Given the description of an element on the screen output the (x, y) to click on. 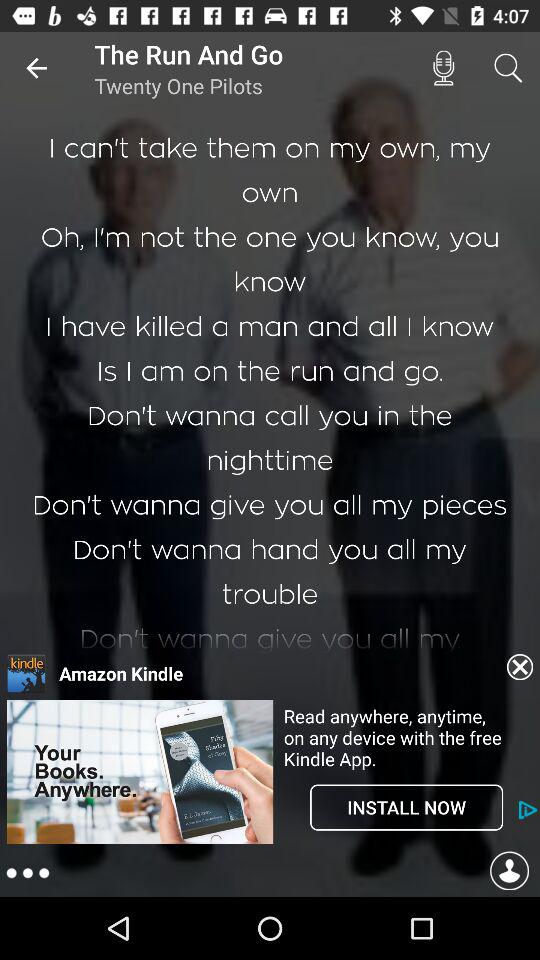
go to advertising site (139, 842)
